Given the description of an element on the screen output the (x, y) to click on. 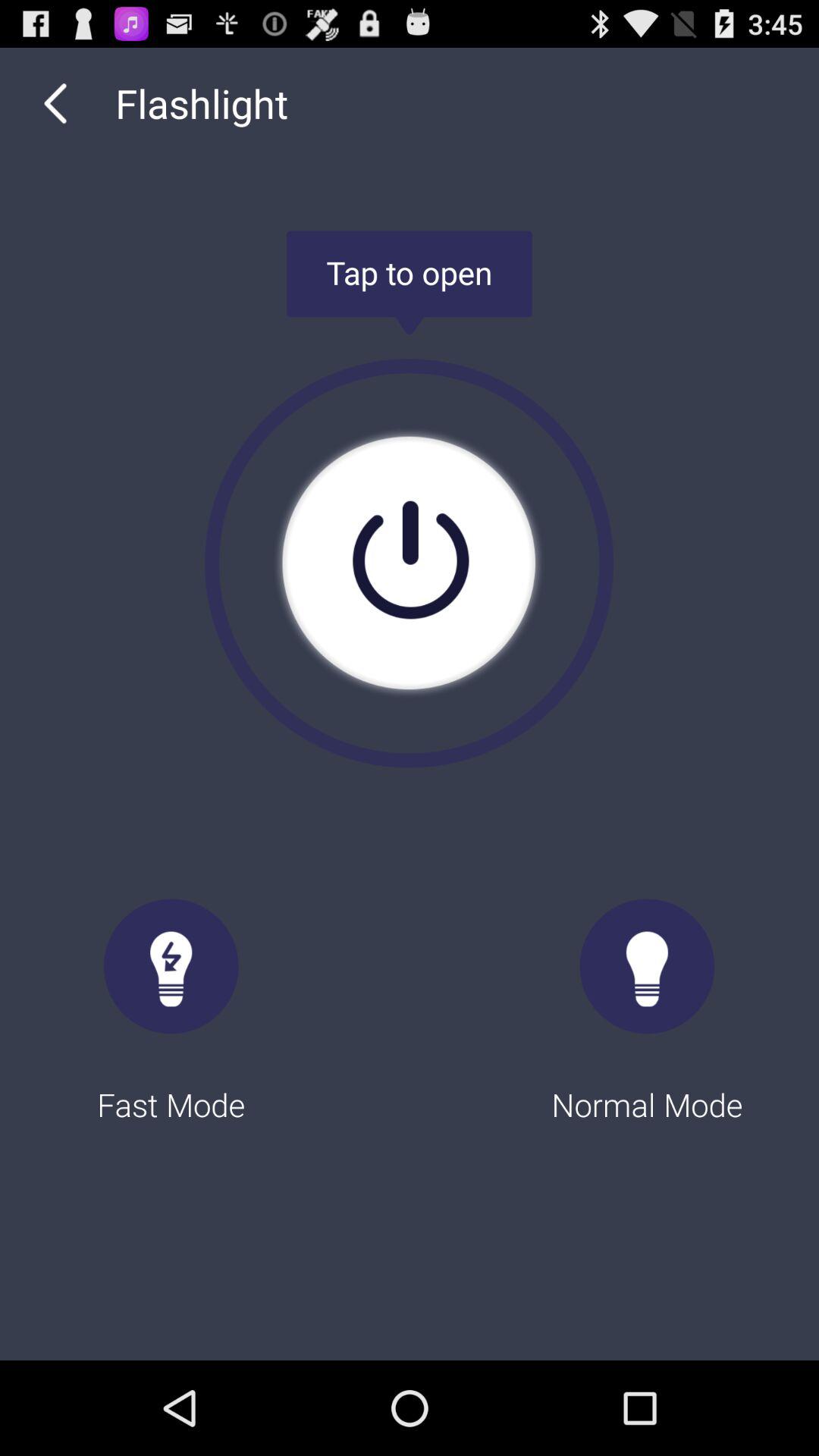
choose app below tap to open (408, 562)
